Given the description of an element on the screen output the (x, y) to click on. 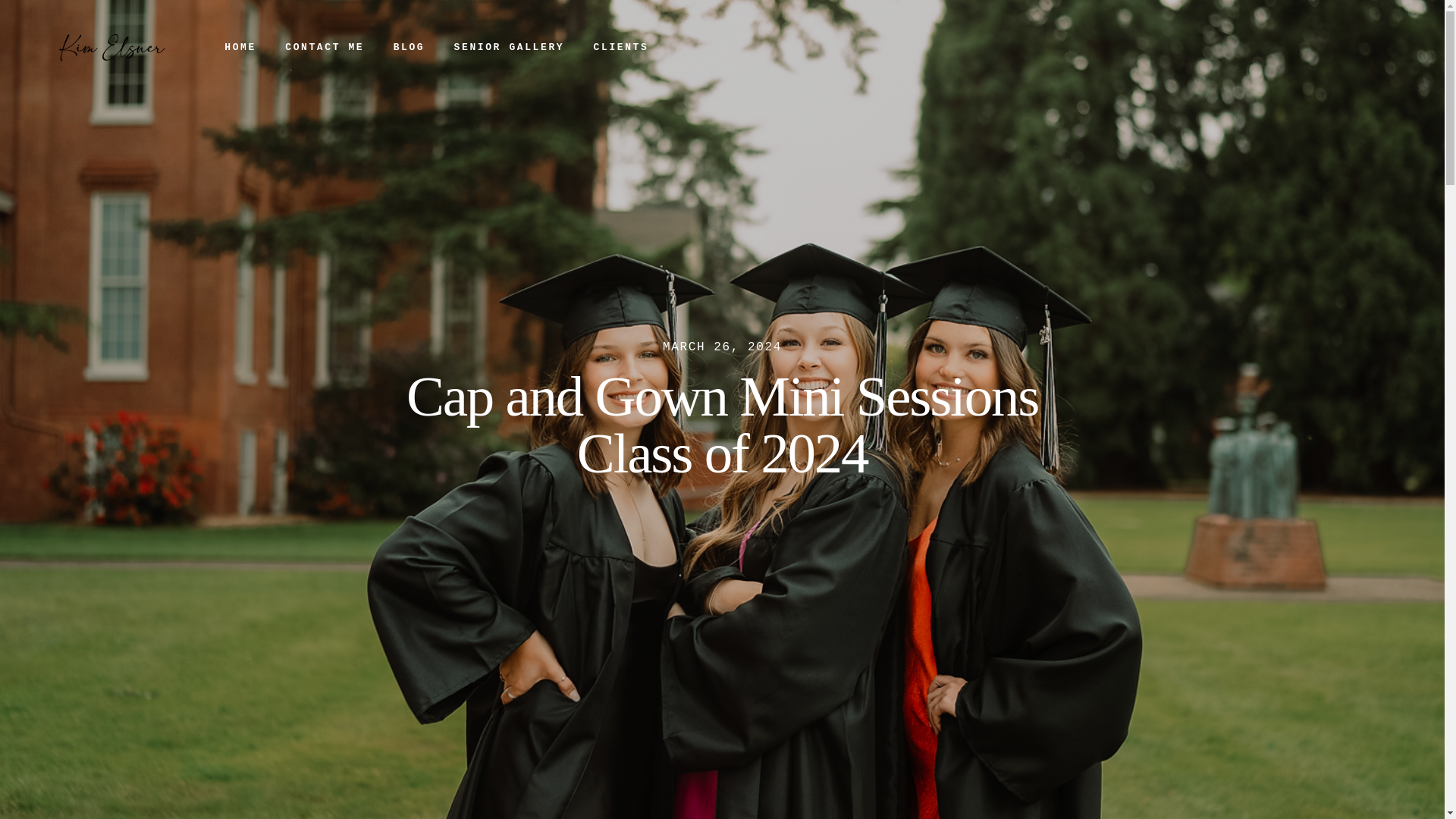
CONTACT ME (324, 47)
HOME (239, 47)
CLIENTS (620, 47)
SENIOR GALLERY (508, 47)
BLOG (408, 47)
